Given the description of an element on the screen output the (x, y) to click on. 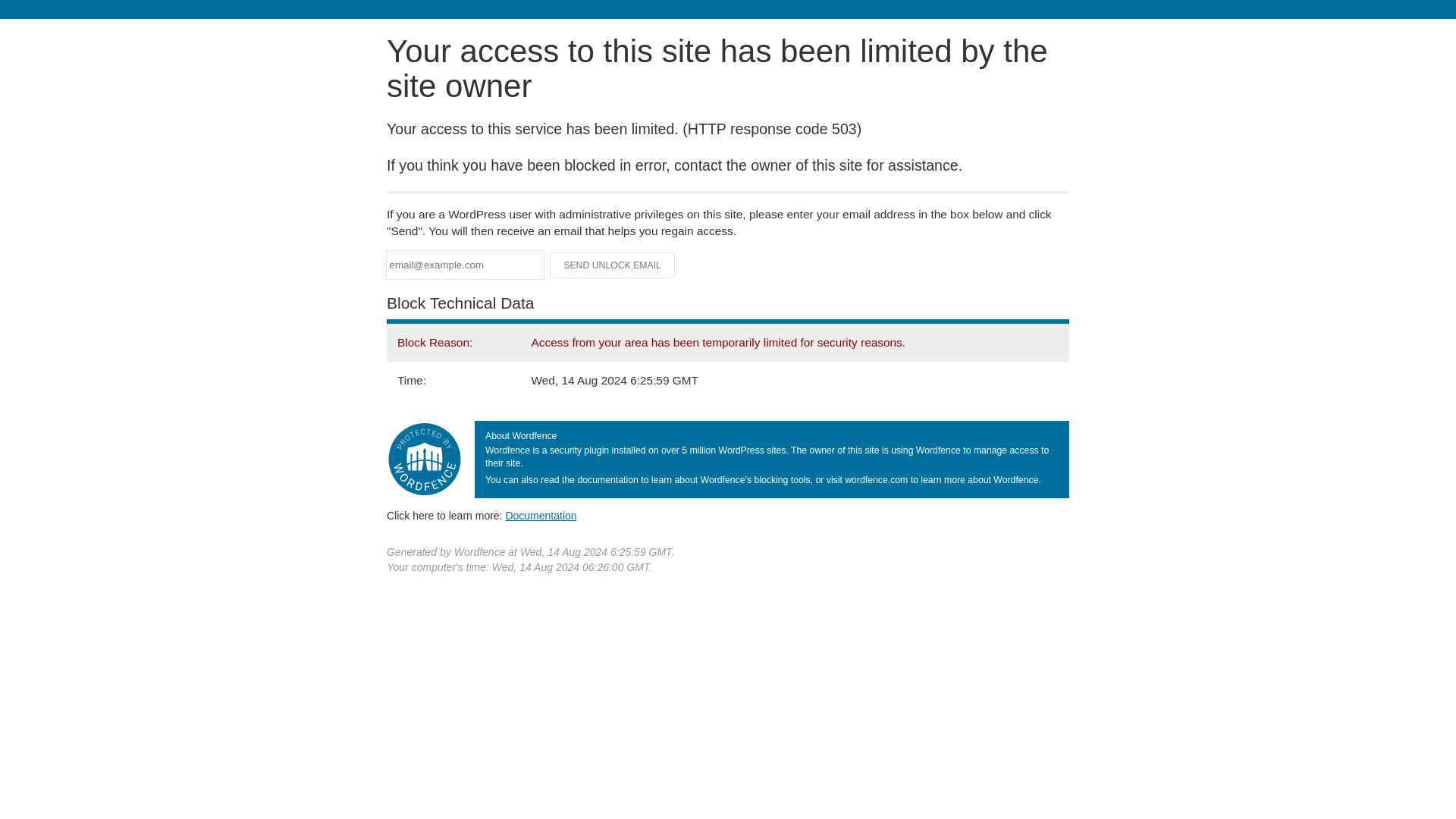
Documentation (540, 515)
Send Unlock Email (612, 265)
Send Unlock Email (612, 265)
